Given the description of an element on the screen output the (x, y) to click on. 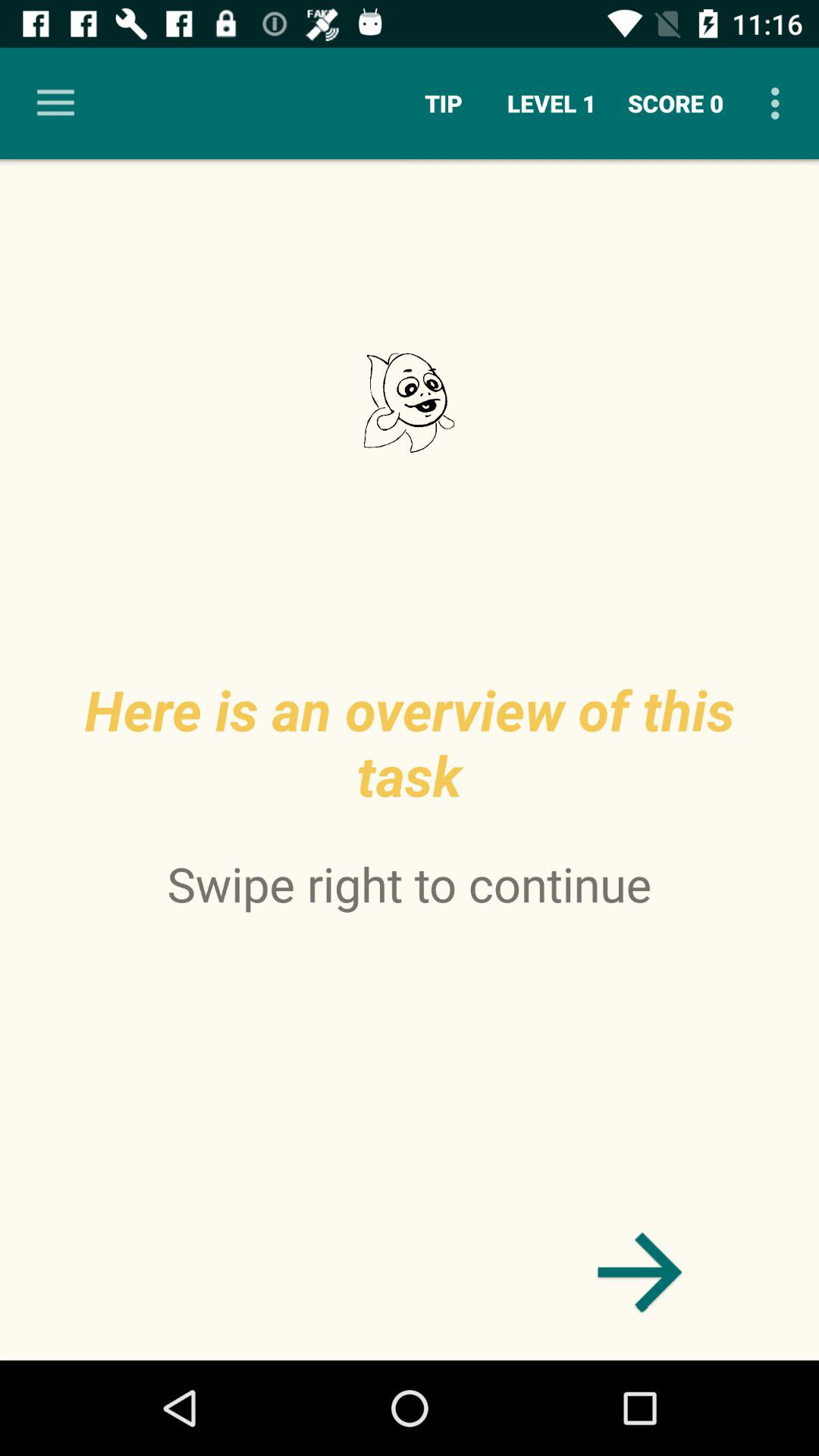
scroll until level 1 item (551, 103)
